Given the description of an element on the screen output the (x, y) to click on. 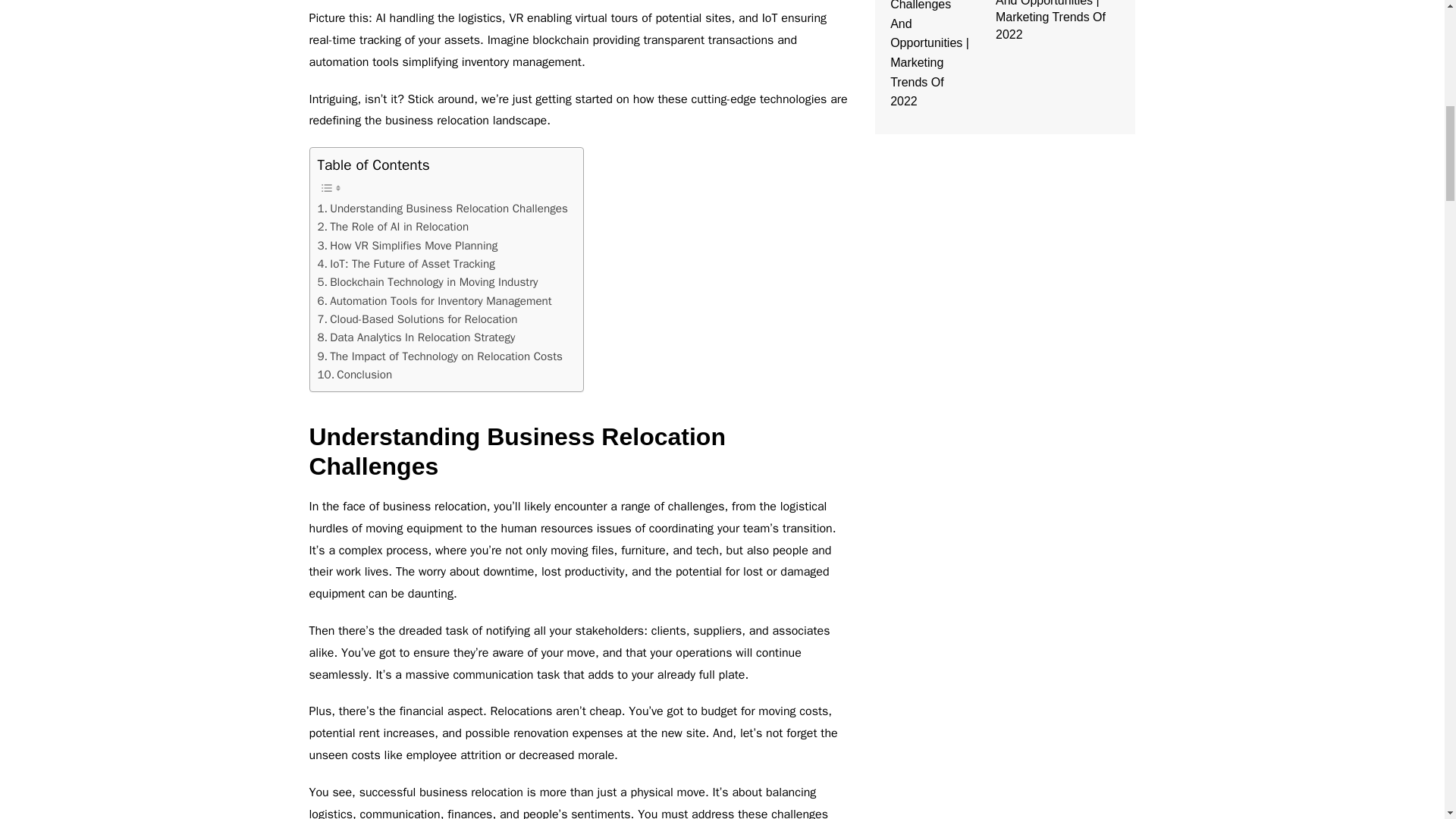
Automation Tools for Inventory Management (434, 300)
Automation Tools for Inventory Management (434, 300)
IoT: The Future of Asset Tracking (406, 263)
How VR Simplifies Move Planning (407, 245)
Blockchain Technology in Moving Industry (427, 281)
The Impact of Technology on Relocation Costs (439, 356)
The Role of AI in Relocation (392, 226)
Blockchain Technology in Moving Industry (427, 281)
Understanding Business Relocation Challenges (442, 208)
Conclusion (354, 374)
